Given the description of an element on the screen output the (x, y) to click on. 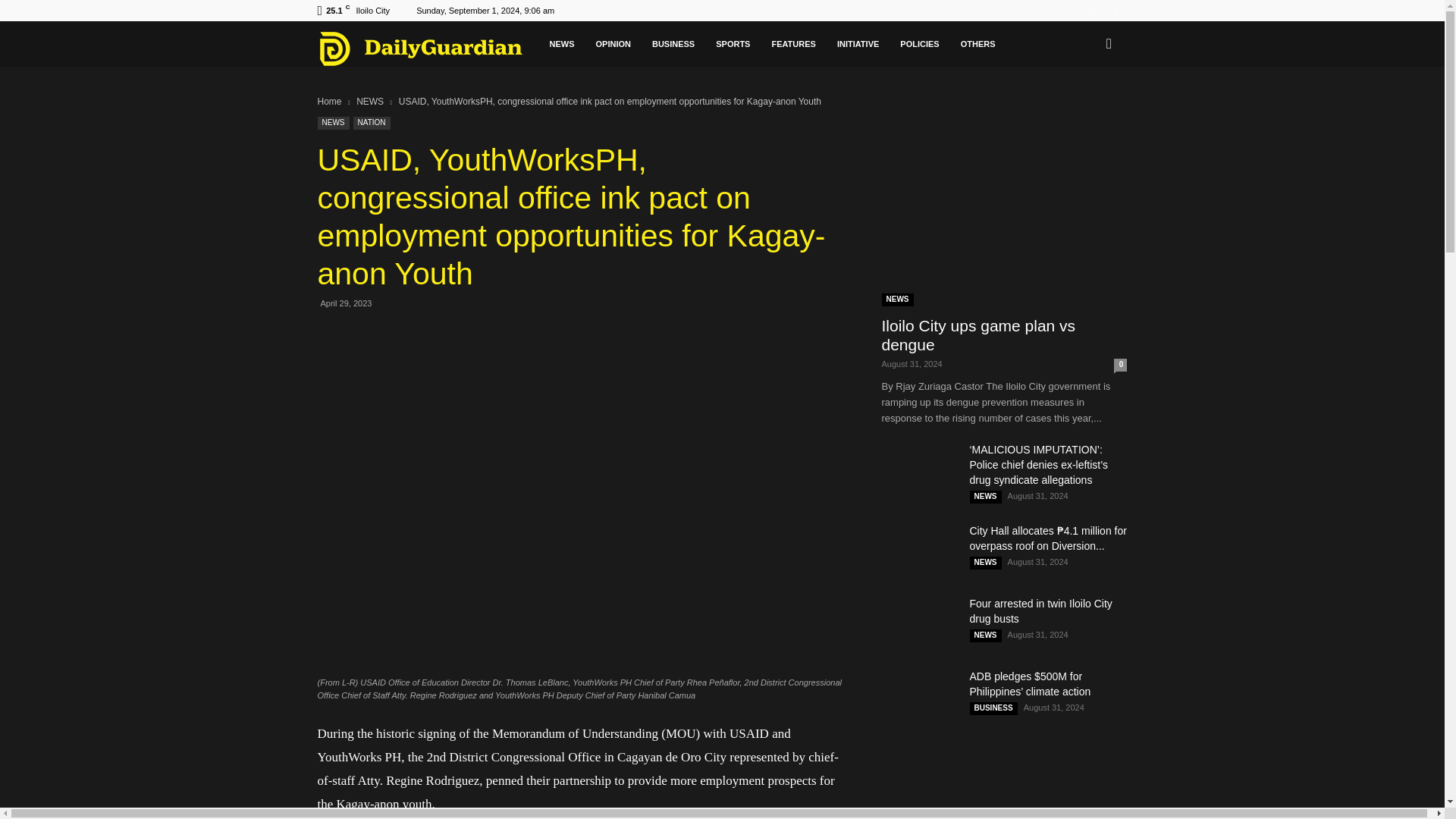
We write, you decide. (419, 48)
Twitter (1114, 10)
NEWS (561, 43)
Daily Guardian (427, 47)
Facebook (1090, 10)
